Given the description of an element on the screen output the (x, y) to click on. 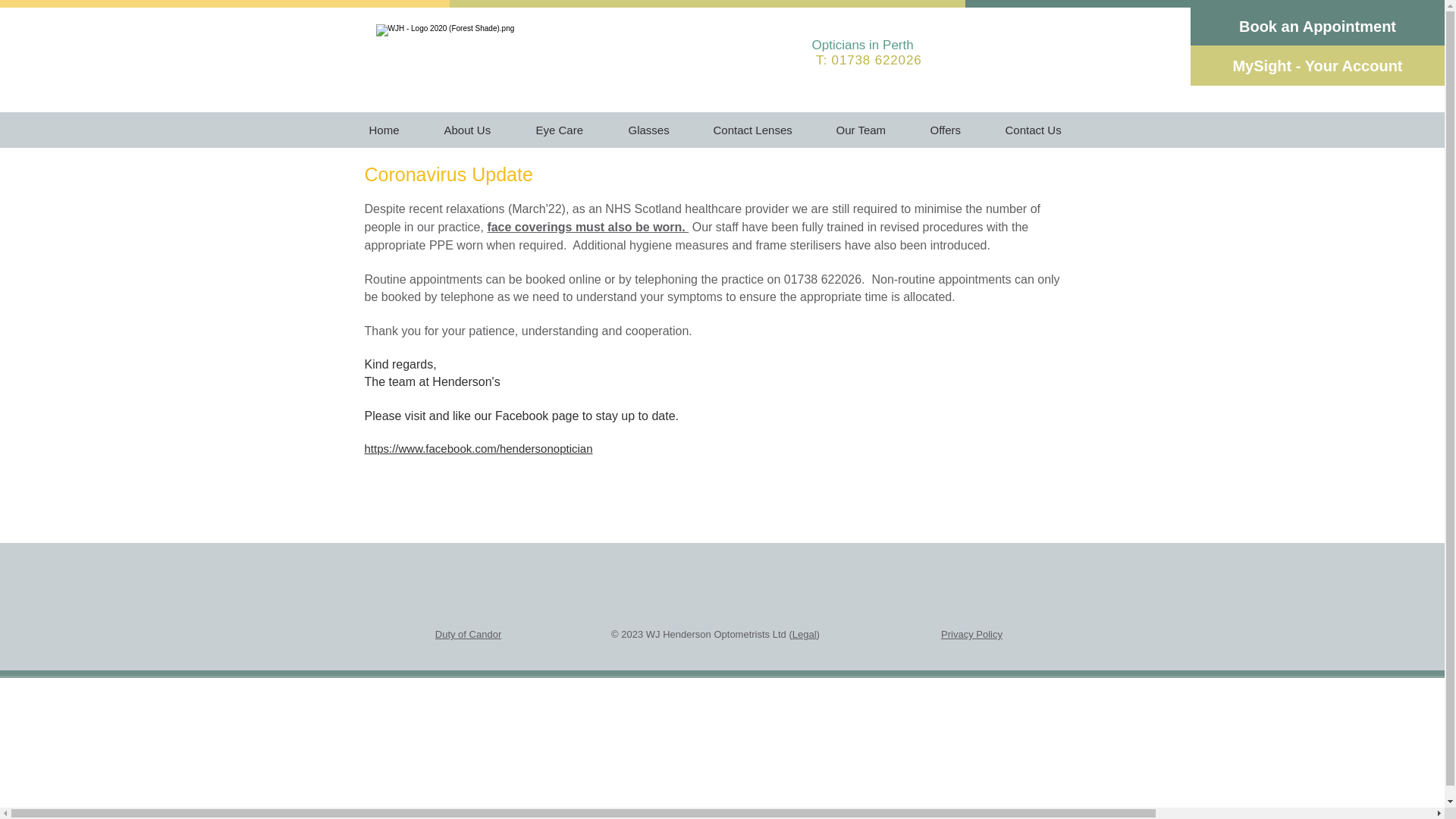
Contact Lenses (763, 129)
Contact Us (1042, 129)
Eye Care (570, 129)
Privacy Policy (971, 633)
Glasses (659, 129)
Our Team (871, 129)
MySight - Your Account (1317, 65)
Offers (956, 129)
Book an Appointment (1317, 26)
Home (395, 129)
Duty of Candor (467, 633)
Legal (804, 633)
About Us (478, 129)
